Given the description of an element on the screen output the (x, y) to click on. 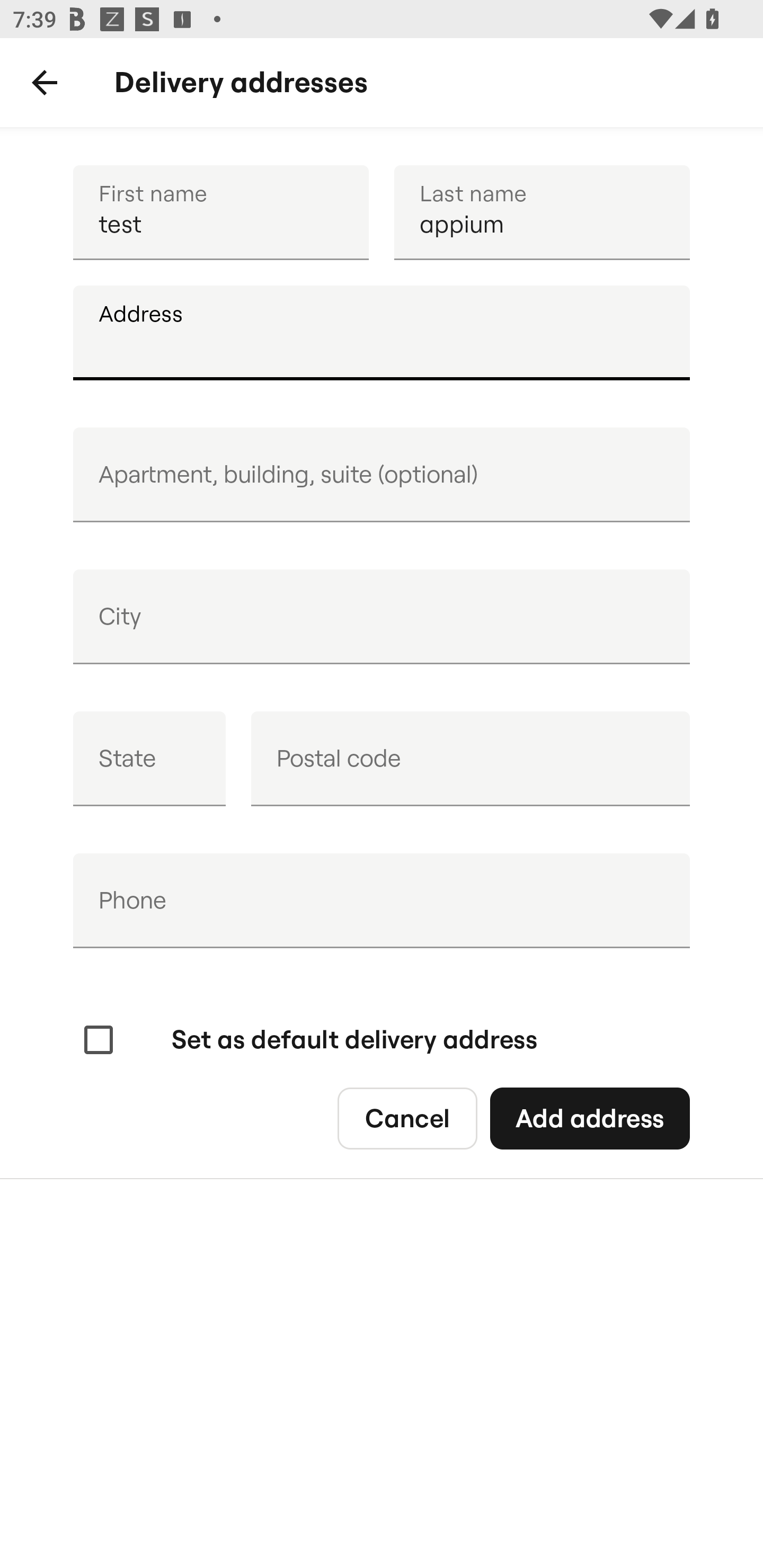
Back (44, 82)
test (220, 212)
appium (541, 212)
Address (381, 333)
Apartment, building, suite (optional) (381, 475)
City (381, 616)
State (149, 758)
Postal code (470, 758)
Phone (381, 900)
Set as default delivery address (308, 1039)
Cancel (407, 1118)
Add address (589, 1118)
